Given the description of an element on the screen output the (x, y) to click on. 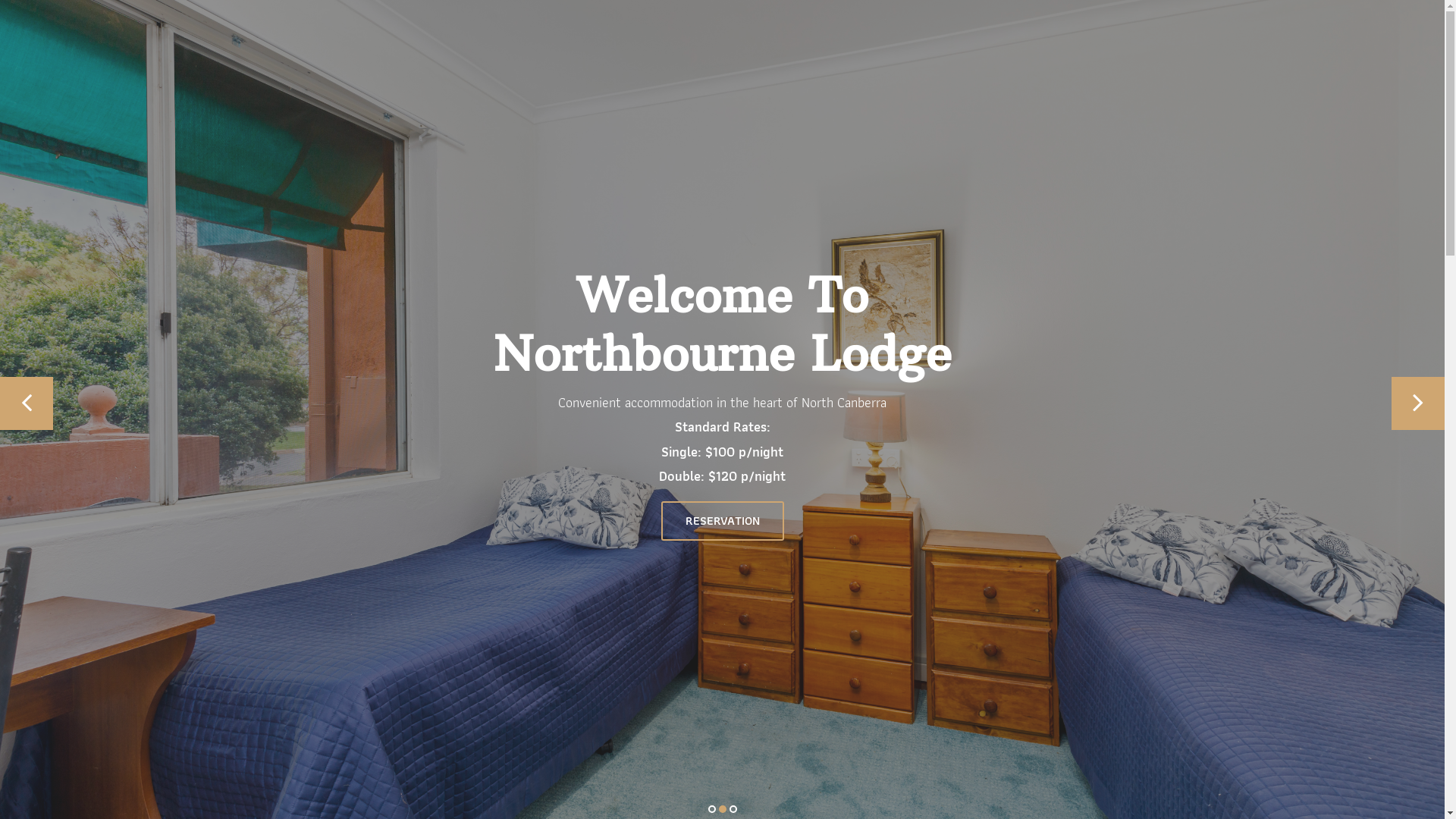
2 Element type: text (722, 808)
1 Element type: text (711, 808)
3 Element type: text (733, 808)
RESERVATION Element type: text (722, 520)
